Given the description of an element on the screen output the (x, y) to click on. 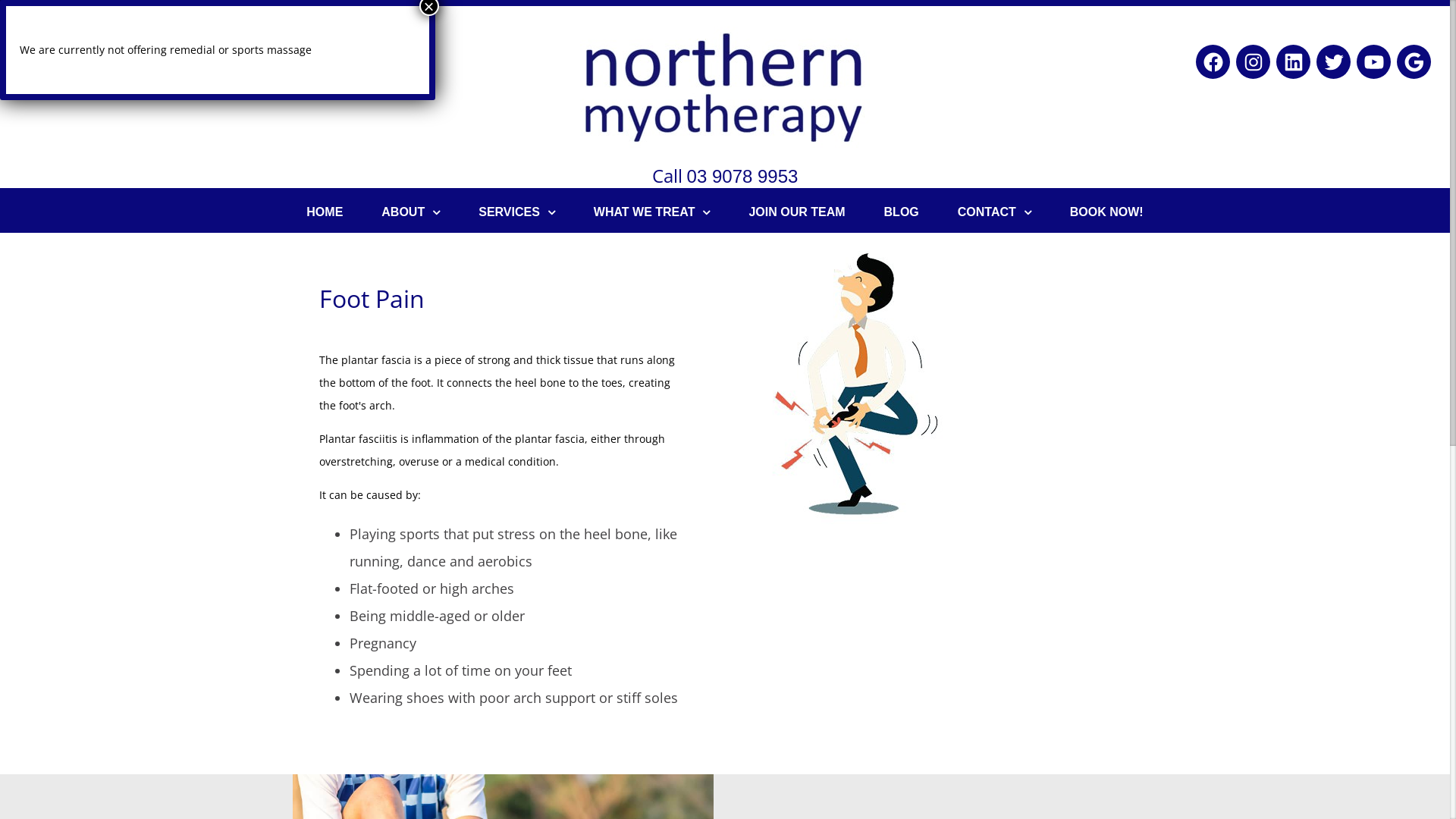
HOME Element type: text (324, 211)
SERVICES Element type: text (516, 211)
JOIN OUR TEAM Element type: text (796, 211)
YouTube Element type: text (1373, 61)
BLOG Element type: text (901, 211)
Google Element type: text (1413, 61)
CONTACT Element type: text (994, 211)
BOOK NOW! Element type: text (1106, 211)
03 9078 9953 Element type: text (742, 176)
Facebook Element type: text (1212, 61)
WHAT WE TREAT Element type: text (652, 211)
LinkedIn Element type: text (1293, 61)
ABOUT Element type: text (410, 211)
Twitter Element type: text (1333, 61)
Instagram Element type: text (1253, 61)
